Given the description of an element on the screen output the (x, y) to click on. 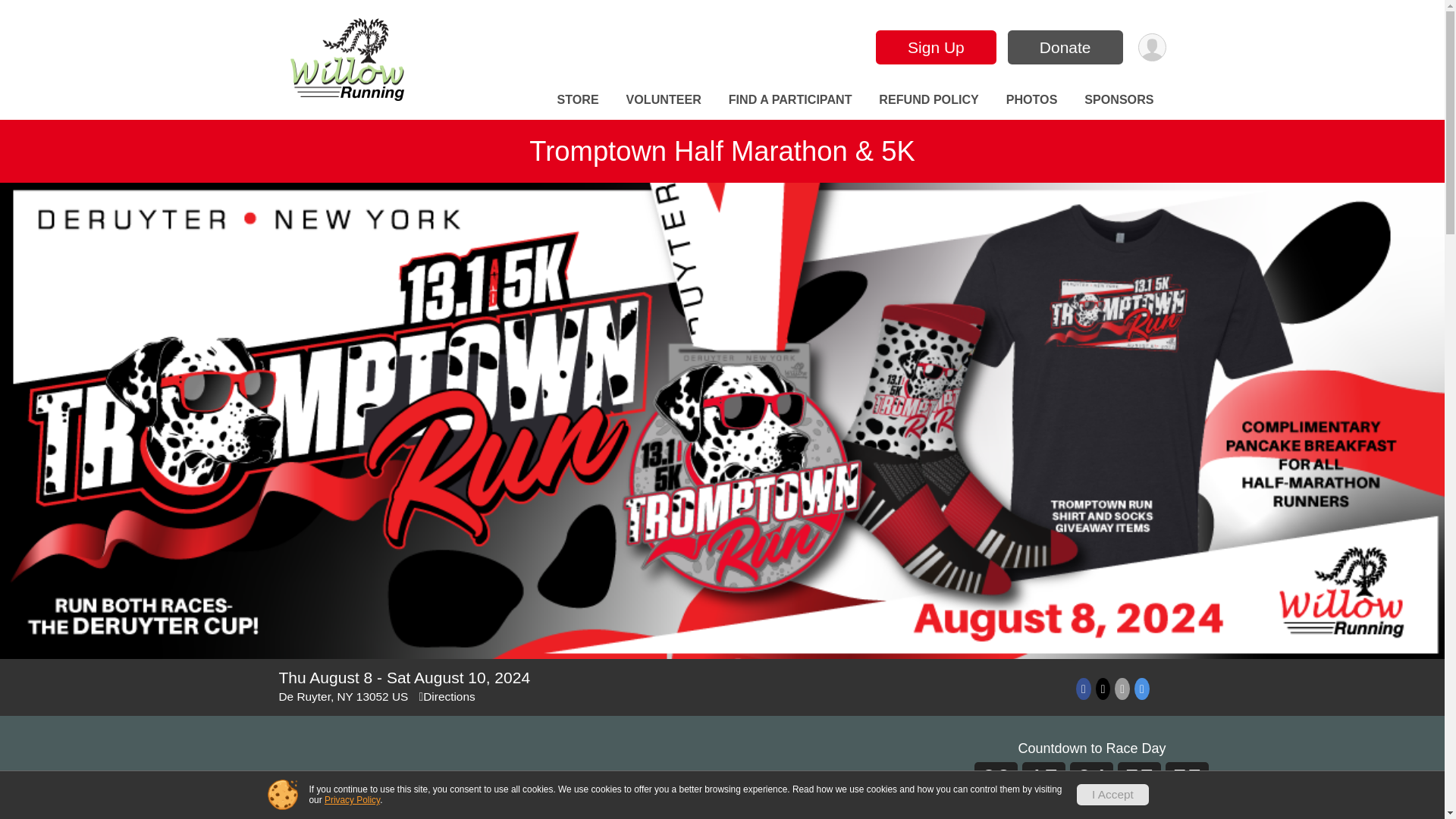
FIND A PARTICIPANT (790, 98)
Directions (447, 696)
STORE (578, 98)
Sign Up (935, 47)
SPONSORS (1118, 98)
PHOTOS (1031, 98)
Donate (1064, 47)
REFUND POLICY (927, 98)
VOLUNTEER (663, 98)
